Given the description of an element on the screen output the (x, y) to click on. 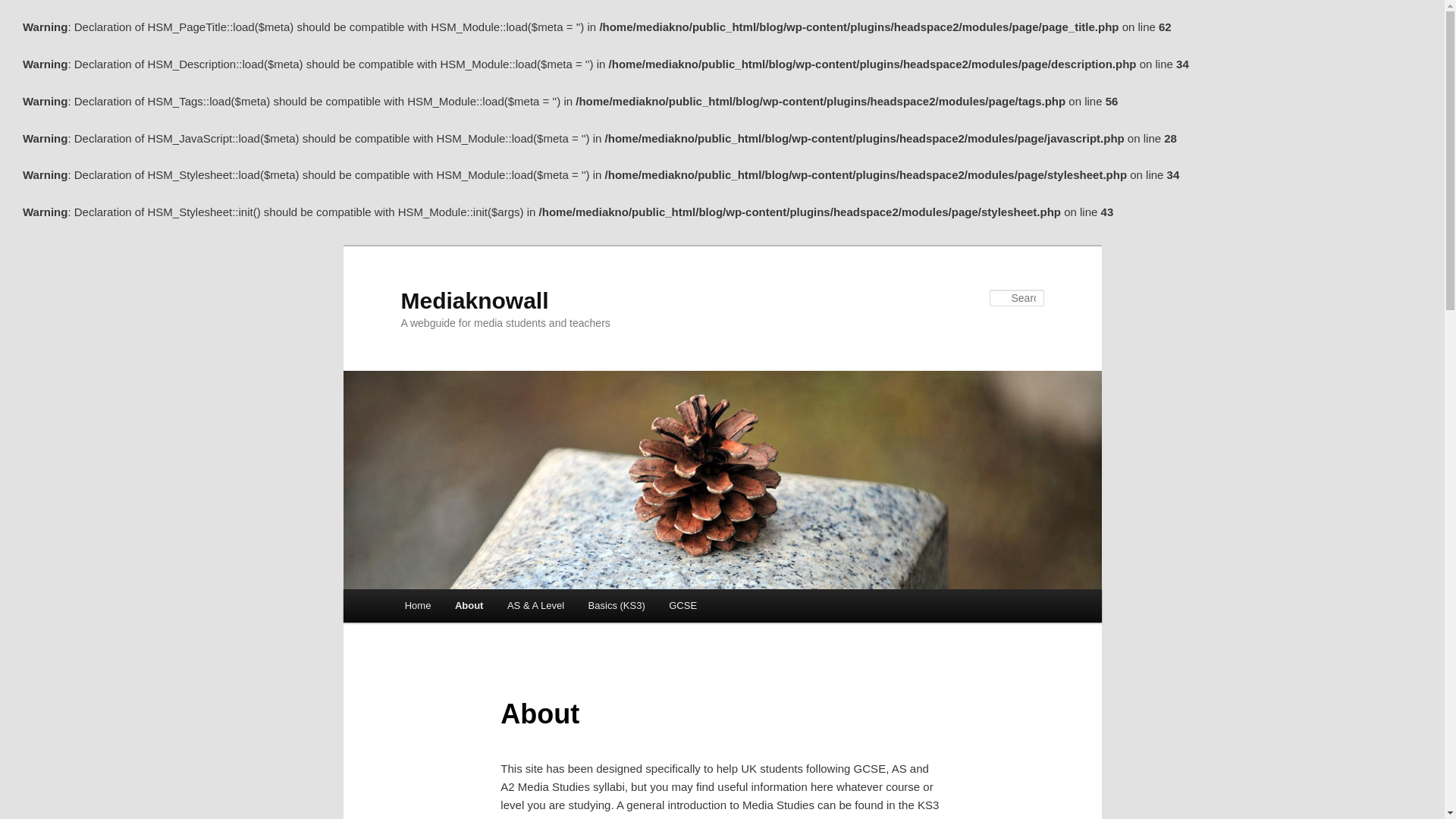
Home (417, 604)
search page (782, 818)
GCSE (681, 604)
About (468, 604)
Mediaknowall (474, 300)
Search (24, 8)
